Given the description of an element on the screen output the (x, y) to click on. 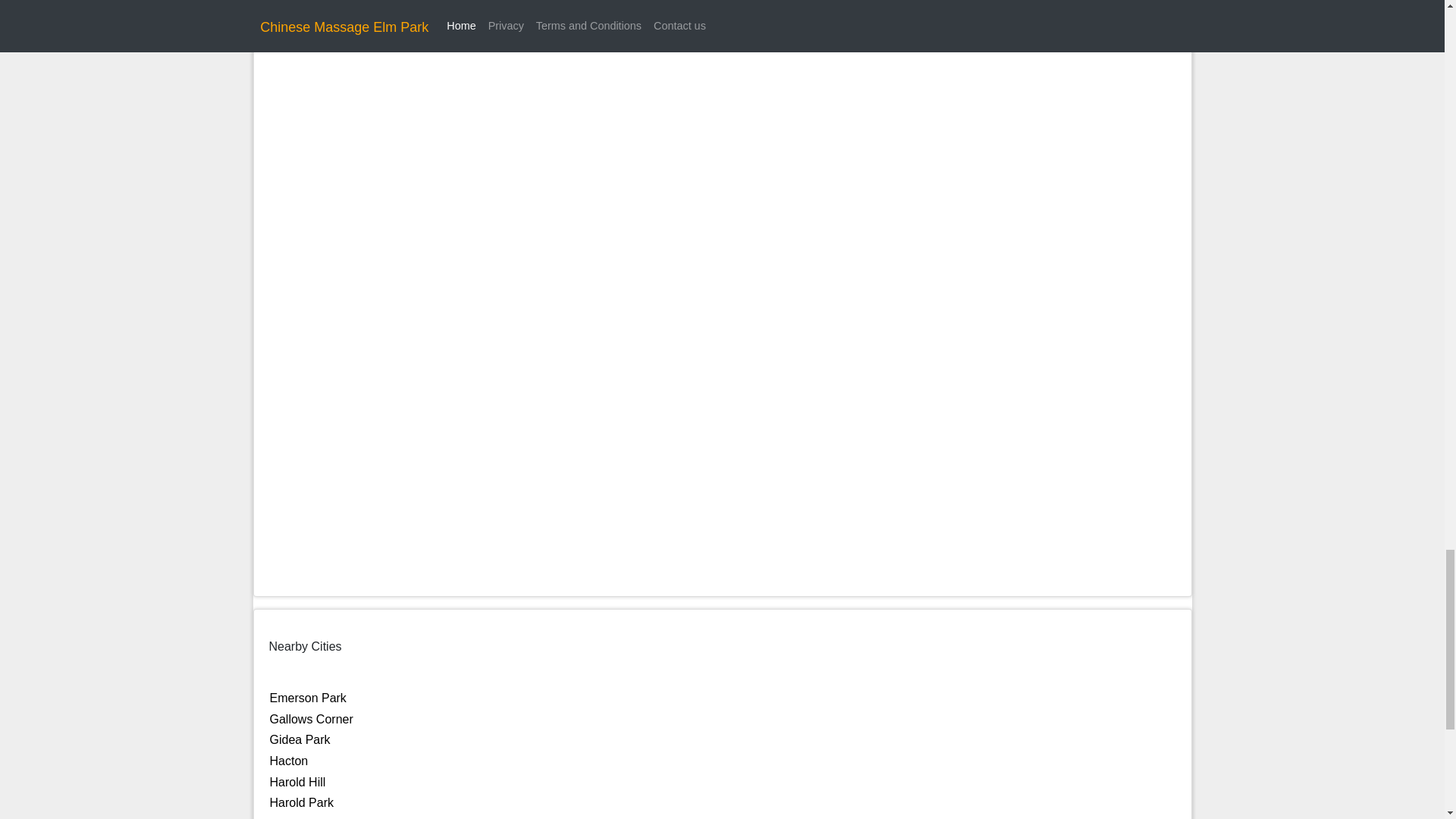
Emerson Park (307, 697)
Hacton (288, 760)
Harold Hill (297, 781)
Gidea Park (299, 739)
Harold Park (301, 802)
Harold Wood (304, 818)
Gallows Corner (311, 718)
